Given the description of an element on the screen output the (x, y) to click on. 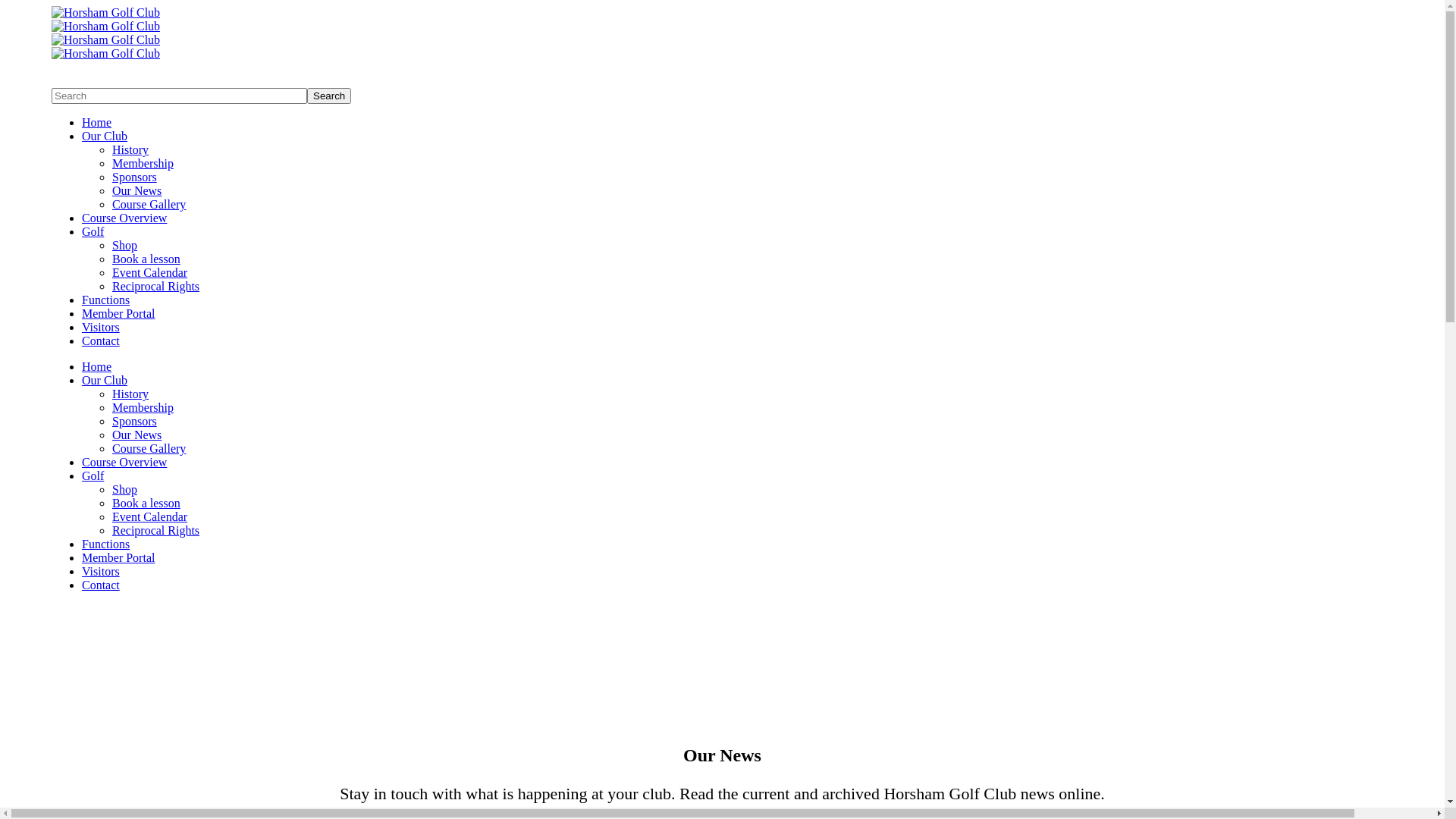
Our News Element type: text (136, 434)
Visitors Element type: text (100, 570)
Course Gallery Element type: text (148, 448)
Our News Element type: text (136, 190)
Sponsors Element type: text (134, 420)
Course Overview Element type: text (123, 217)
Book a lesson Element type: text (146, 502)
Shop Element type: text (124, 489)
Sponsors Element type: text (134, 176)
Visitors Element type: text (100, 326)
Event Calendar Element type: text (149, 272)
Membership Element type: text (142, 407)
Home Element type: text (96, 366)
Home Element type: text (96, 122)
Functions Element type: text (105, 299)
Member Portal Element type: text (117, 313)
Course Overview Element type: text (123, 461)
Reciprocal Rights Element type: text (155, 285)
Book a lesson Element type: text (146, 258)
History Element type: text (130, 149)
Golf Element type: text (92, 475)
Reciprocal Rights Element type: text (155, 530)
Membership Element type: text (142, 162)
Shop Element type: text (124, 244)
History Element type: text (130, 393)
Our Club Element type: text (104, 135)
Course Gallery Element type: text (148, 203)
Member Portal Element type: text (117, 557)
Contact Element type: text (100, 340)
Contact Element type: text (100, 584)
Golf Element type: text (92, 231)
Event Calendar Element type: text (149, 516)
Functions Element type: text (105, 543)
Our Club Element type: text (104, 379)
Search Element type: text (329, 95)
